Given the description of an element on the screen output the (x, y) to click on. 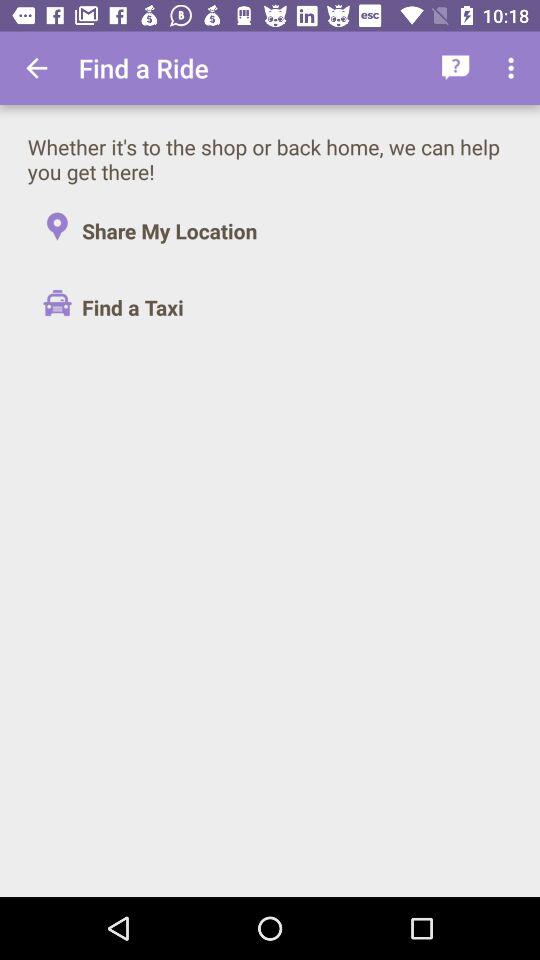
select icon above whether it s item (455, 67)
